Given the description of an element on the screen output the (x, y) to click on. 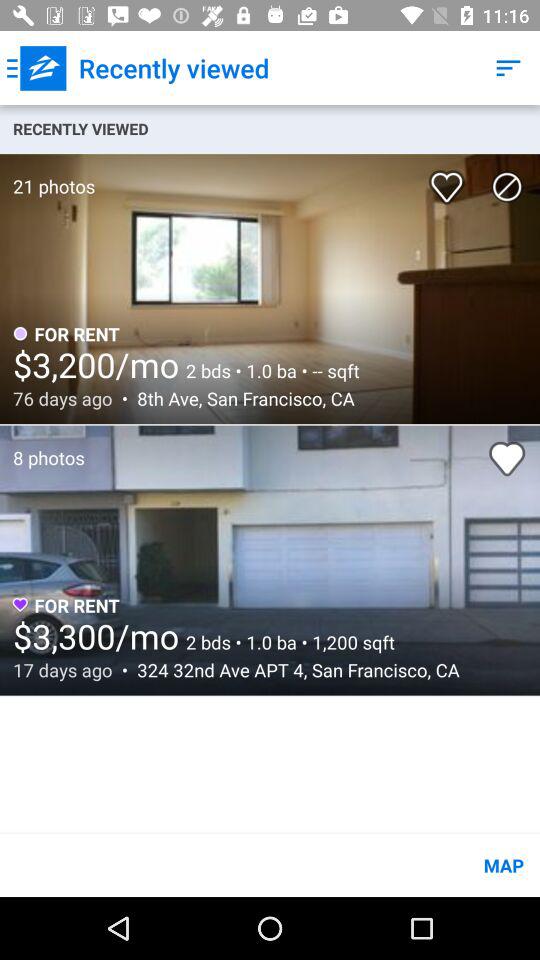
jump until map item (270, 864)
